Given the description of an element on the screen output the (x, y) to click on. 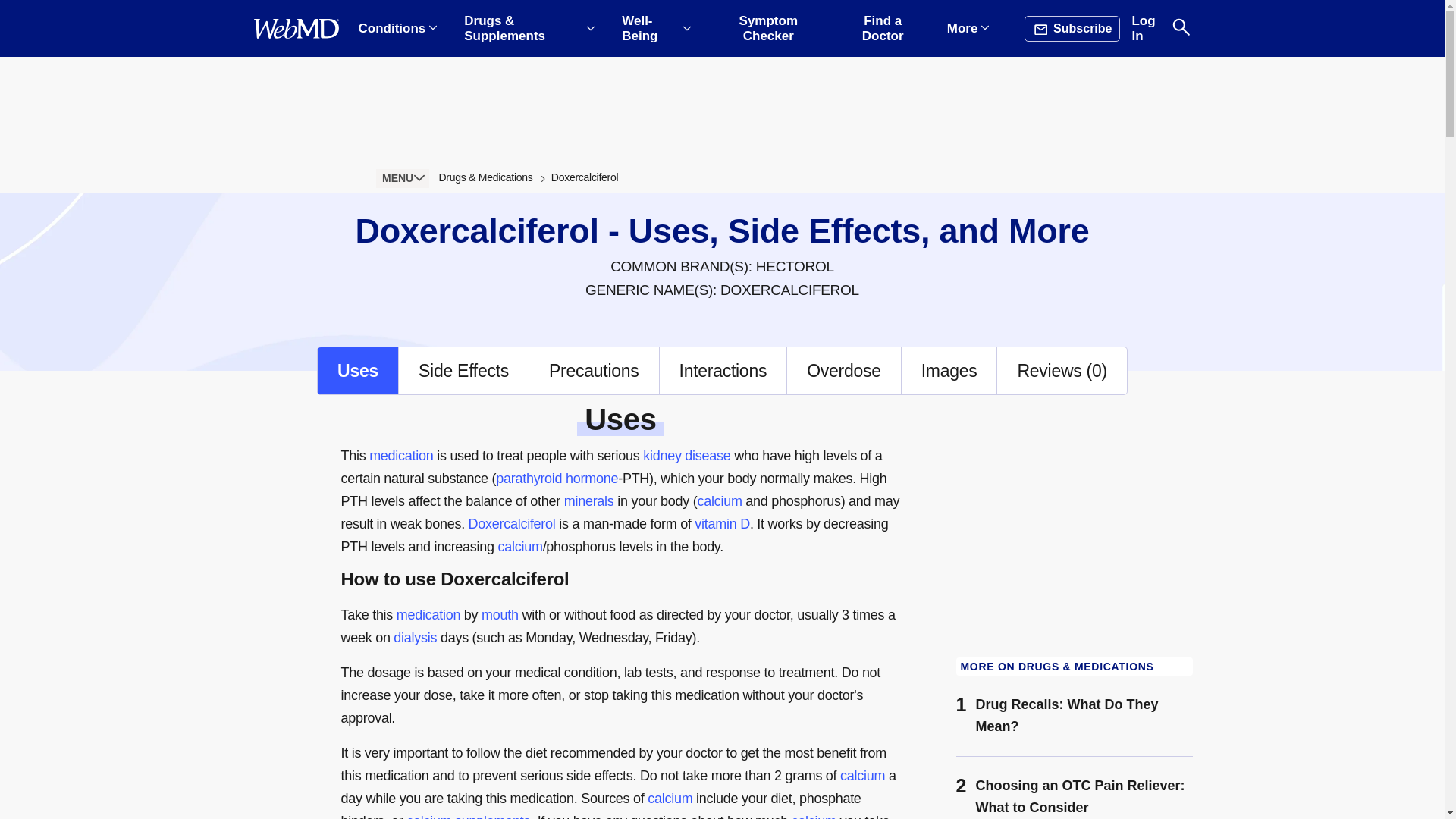
Conditions (397, 28)
